Given the description of an element on the screen output the (x, y) to click on. 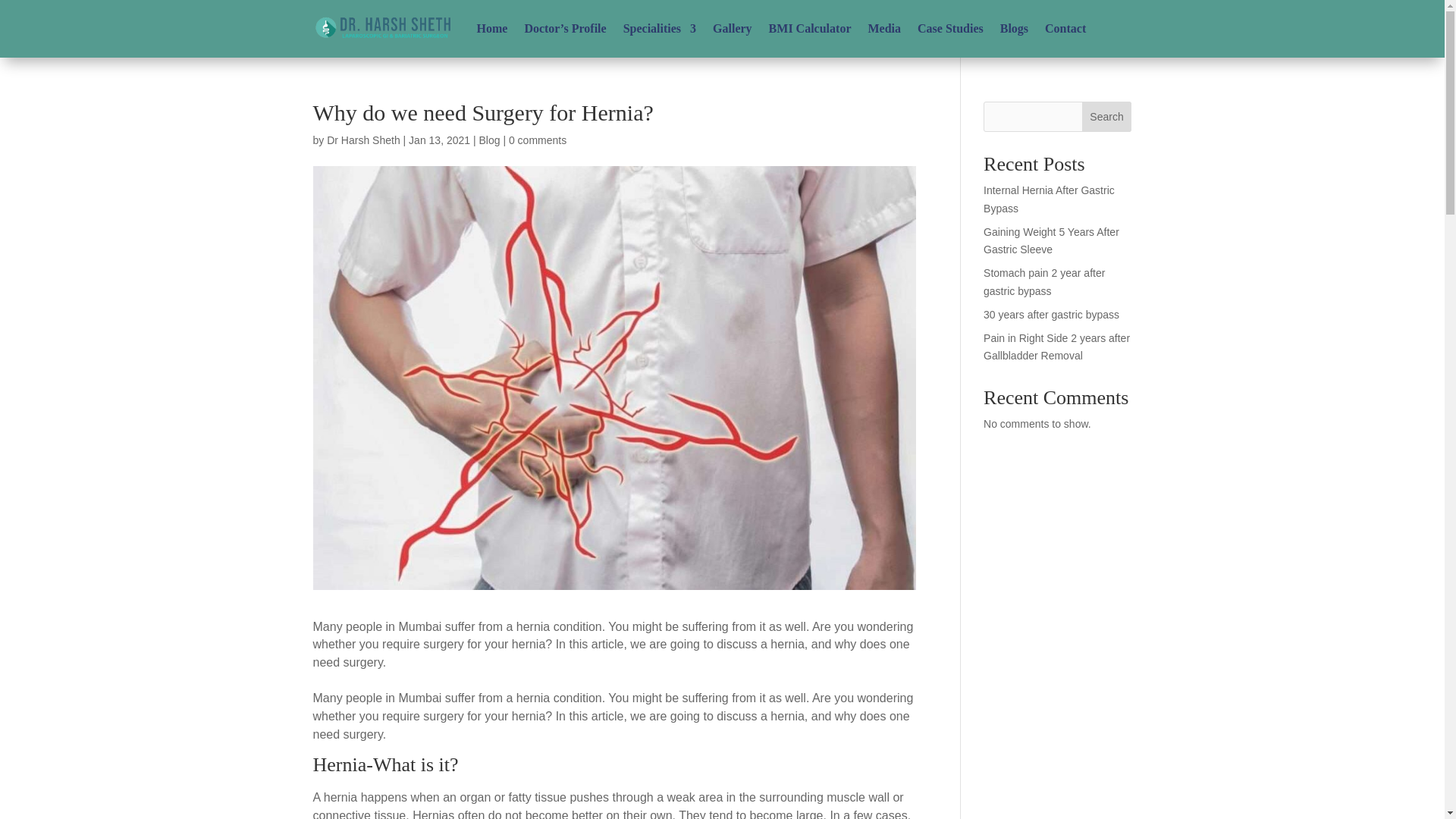
Dr Harsh Sheth (362, 140)
Blog (489, 140)
0 comments (537, 140)
BMI Calculator (809, 28)
Case Studies (950, 28)
Specialities (659, 28)
Posts by Dr Harsh Sheth (362, 140)
